Given the description of an element on the screen output the (x, y) to click on. 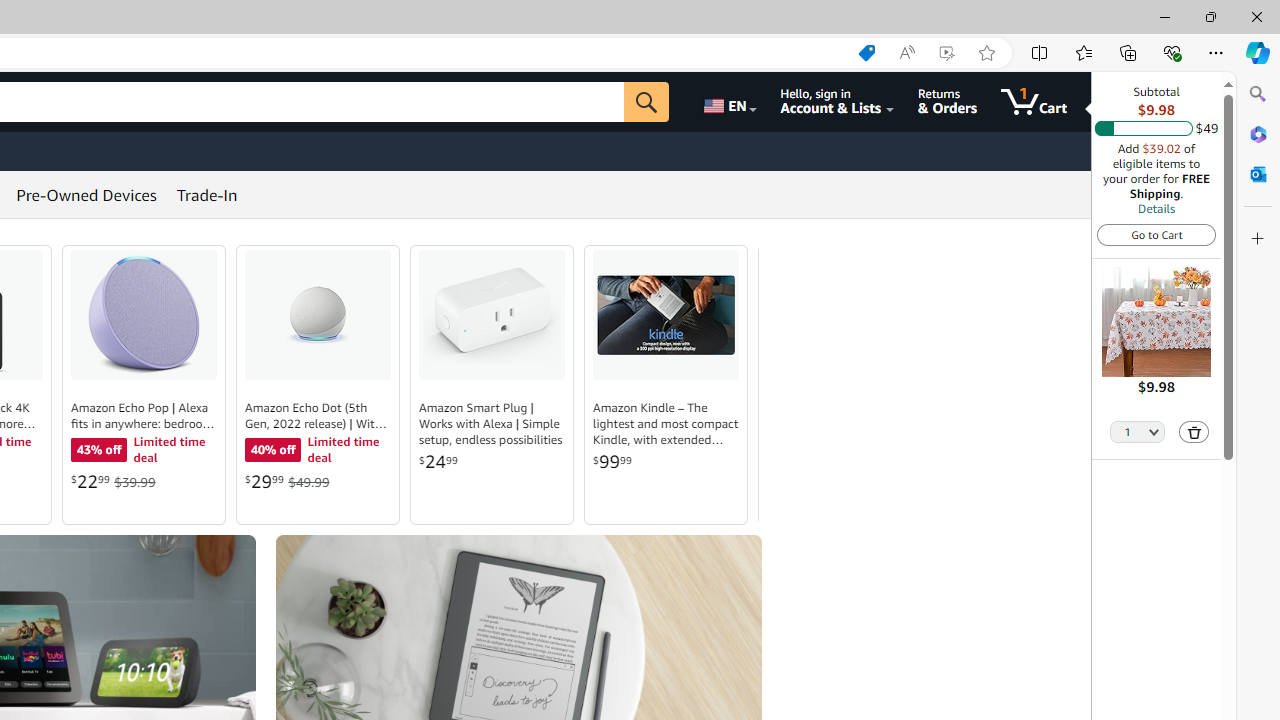
Choose a language for shopping. (728, 101)
Pre-Owned Devices (86, 194)
Delete (1194, 431)
Delete (1193, 431)
Pre-Owned Devices (86, 194)
Enhance video (946, 53)
Returns & Orders (946, 101)
Trade-In (207, 194)
